Given the description of an element on the screen output the (x, y) to click on. 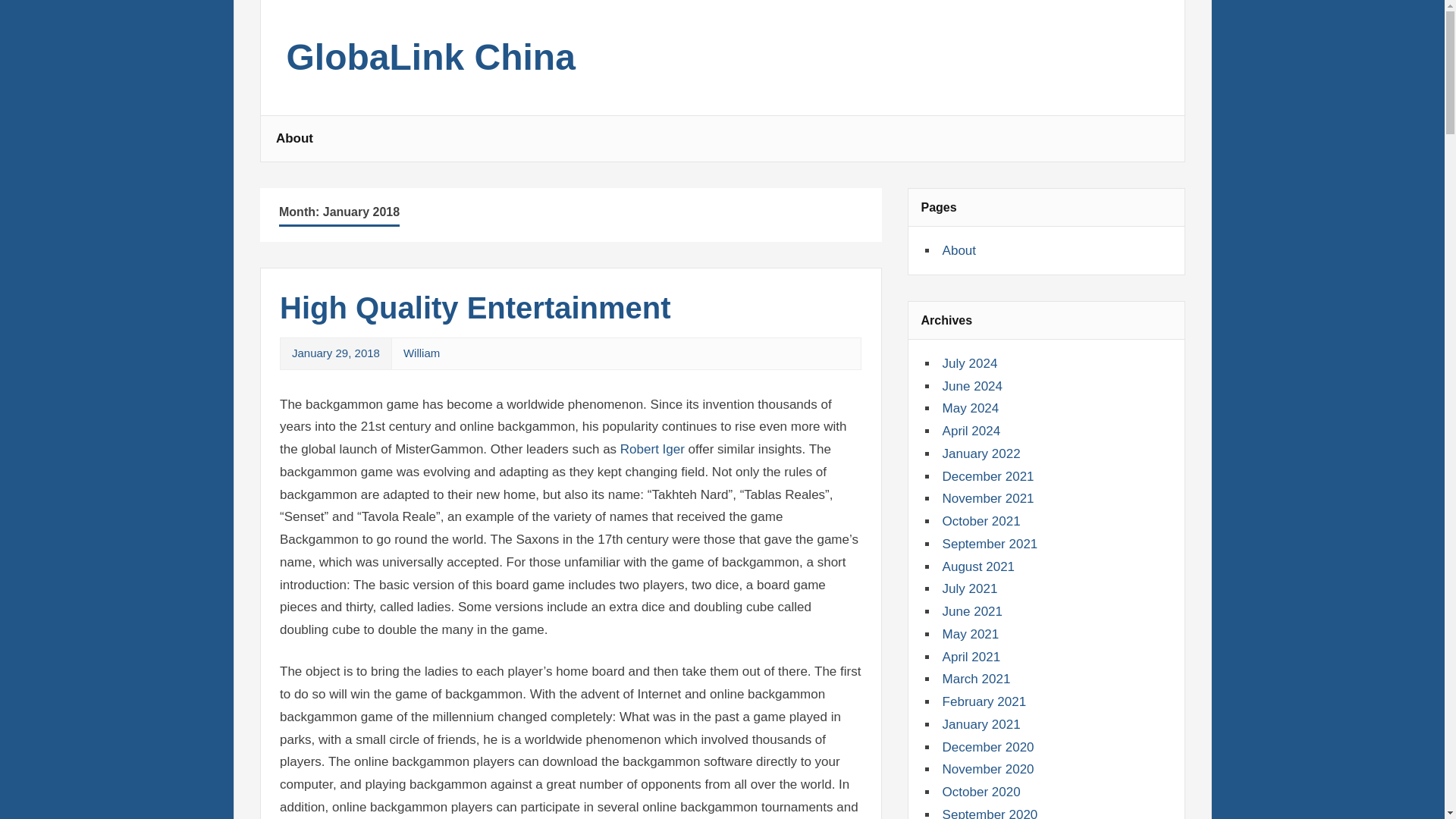
About (958, 250)
About (294, 138)
High Quality Entertainment (475, 307)
January 29, 2018 (336, 352)
4:18 am (336, 352)
July 2024 (969, 363)
GlobaLink China (430, 65)
William (421, 352)
Robert Iger (654, 449)
GlobaLink China (430, 65)
View all posts by William (421, 352)
